Given the description of an element on the screen output the (x, y) to click on. 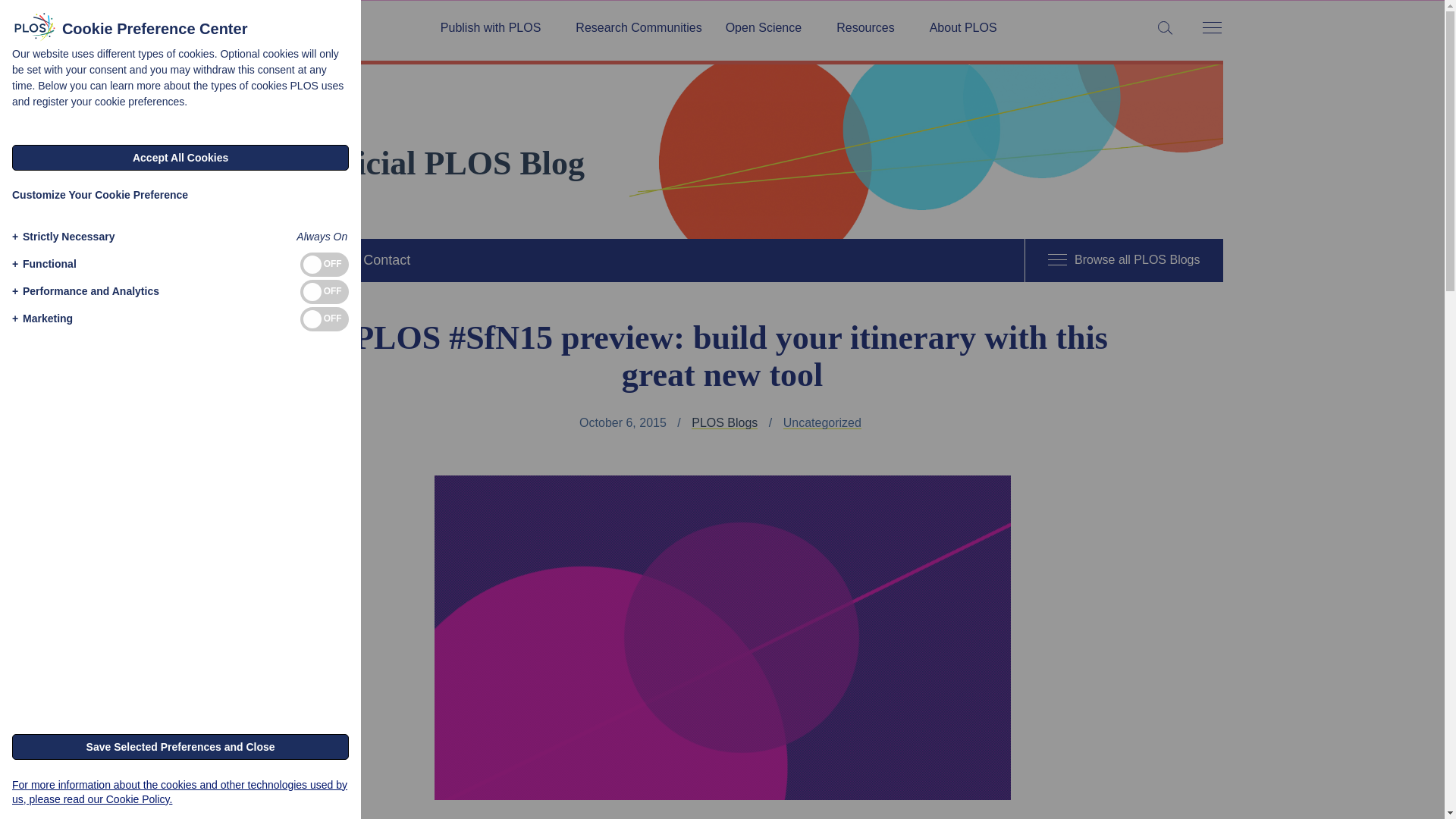
Search (15, 15)
About PLOS (962, 28)
Research Communities (638, 28)
Open Science (769, 28)
Menu (1211, 28)
Resources (870, 28)
Publish with PLOS (496, 28)
